Given the description of an element on the screen output the (x, y) to click on. 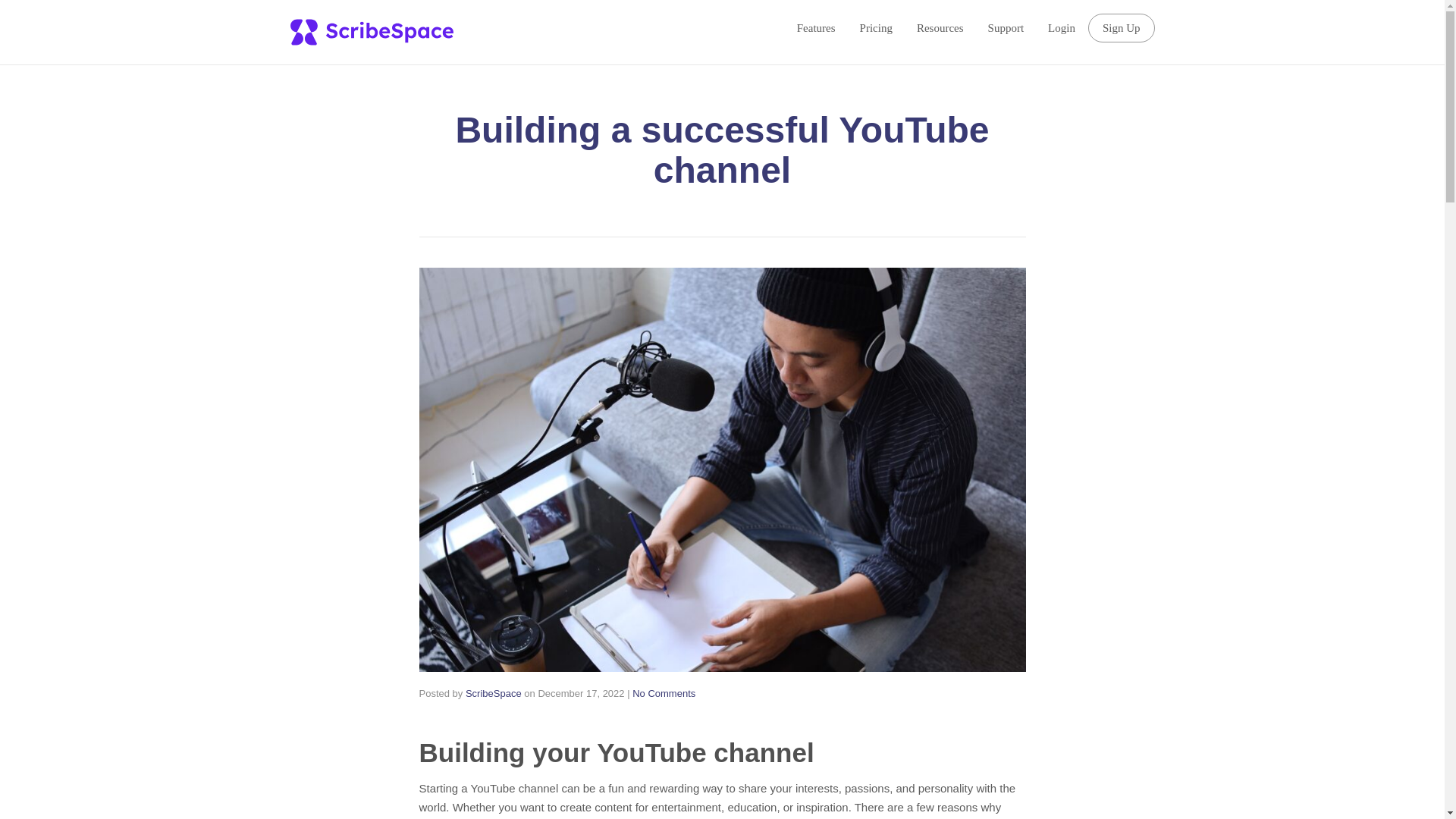
Sign Up (1121, 28)
Resources (940, 27)
Pricing (876, 27)
Login (1061, 27)
No Comments (663, 693)
Features (815, 27)
ScribeSpace (493, 693)
Posts by ScribeSpace (493, 693)
Support (1006, 27)
